Given the description of an element on the screen output the (x, y) to click on. 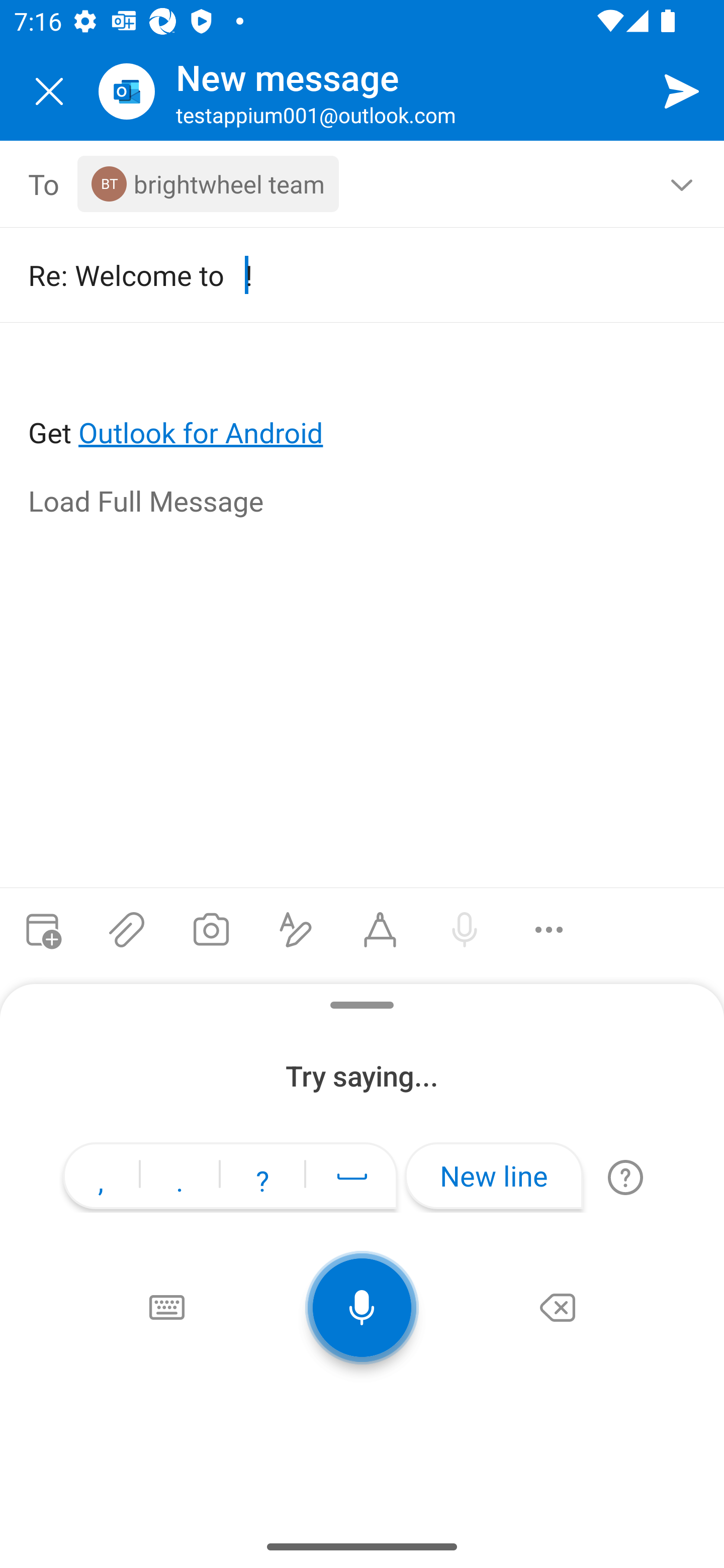
Close (49, 91)
Send (681, 90)
Re: Welcome to   ! (347, 274)


Get Outlook for Android (363, 400)
Load Full Message (363, 502)
Attach meeting (42, 929)
Attach files (126, 929)
Take a photo (210, 929)
Show formatting options (295, 929)
Start Ink compose (380, 929)
More options (548, 929)
  Insert Space button (351, 1175)
New line new line button (493, 1175)
Help (624, 1177)
, Comma button (100, 1177)
. Period button (179, 1177)
? Question mark button (262, 1177)
Microphone (361, 1307)
switch to alphanumeric keyboard (165, 1307)
backspace (557, 1307)
